Given the description of an element on the screen output the (x, y) to click on. 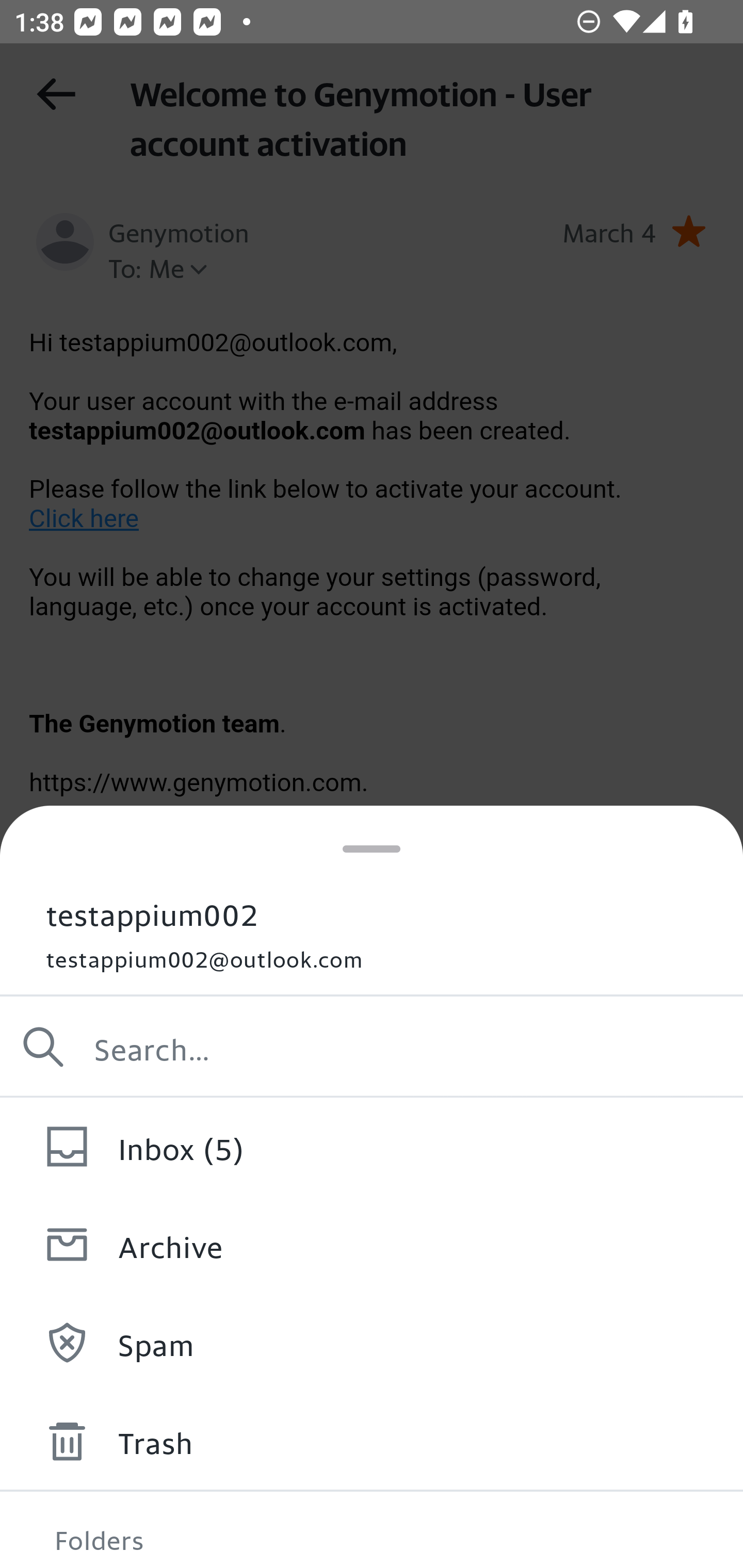
Search… (371, 1047)
Inbox (5) (371, 1145)
Archive (371, 1243)
Spam (371, 1342)
Trash (371, 1440)
